Given the description of an element on the screen output the (x, y) to click on. 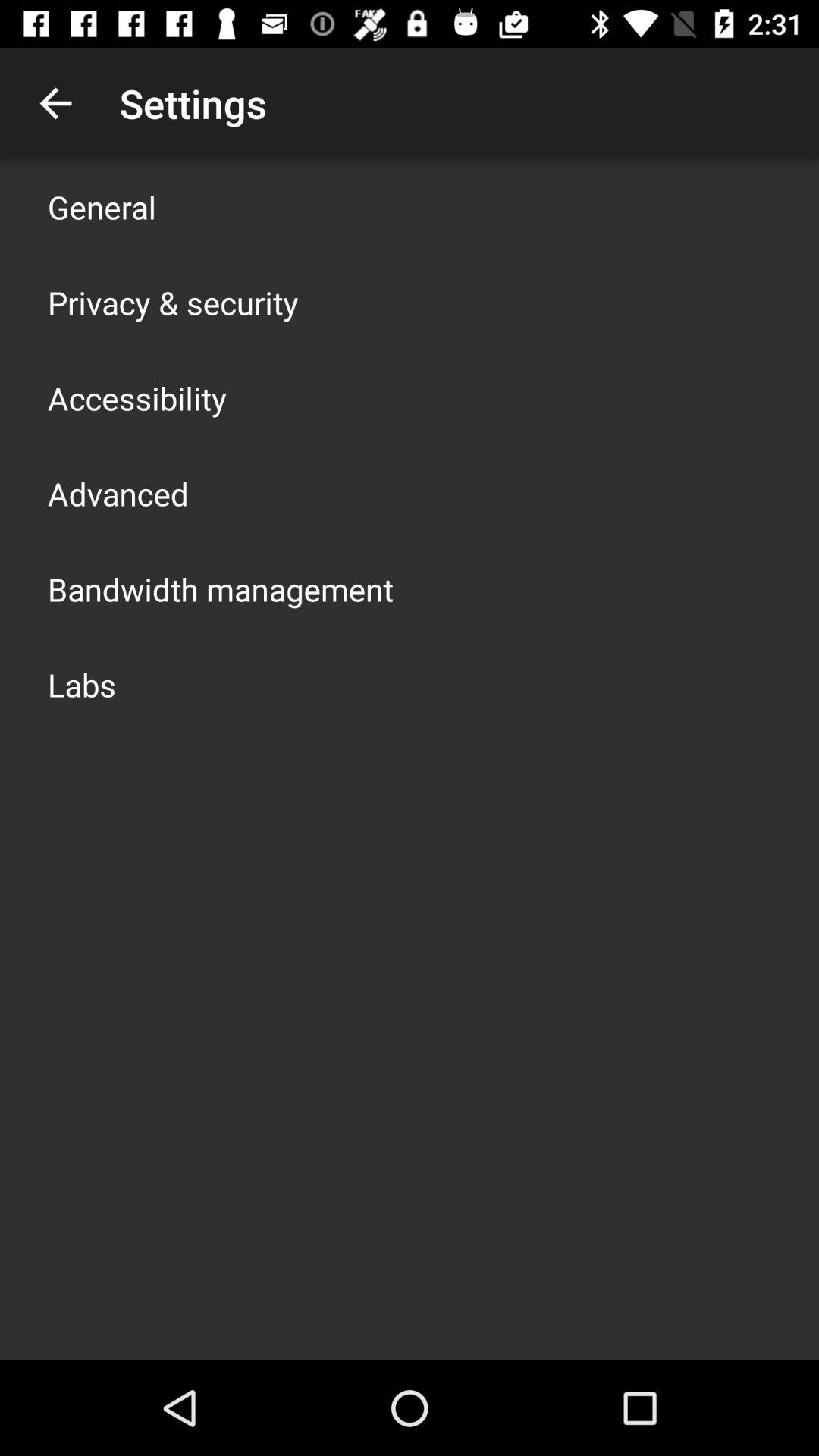
turn off the labs item (81, 684)
